Given the description of an element on the screen output the (x, y) to click on. 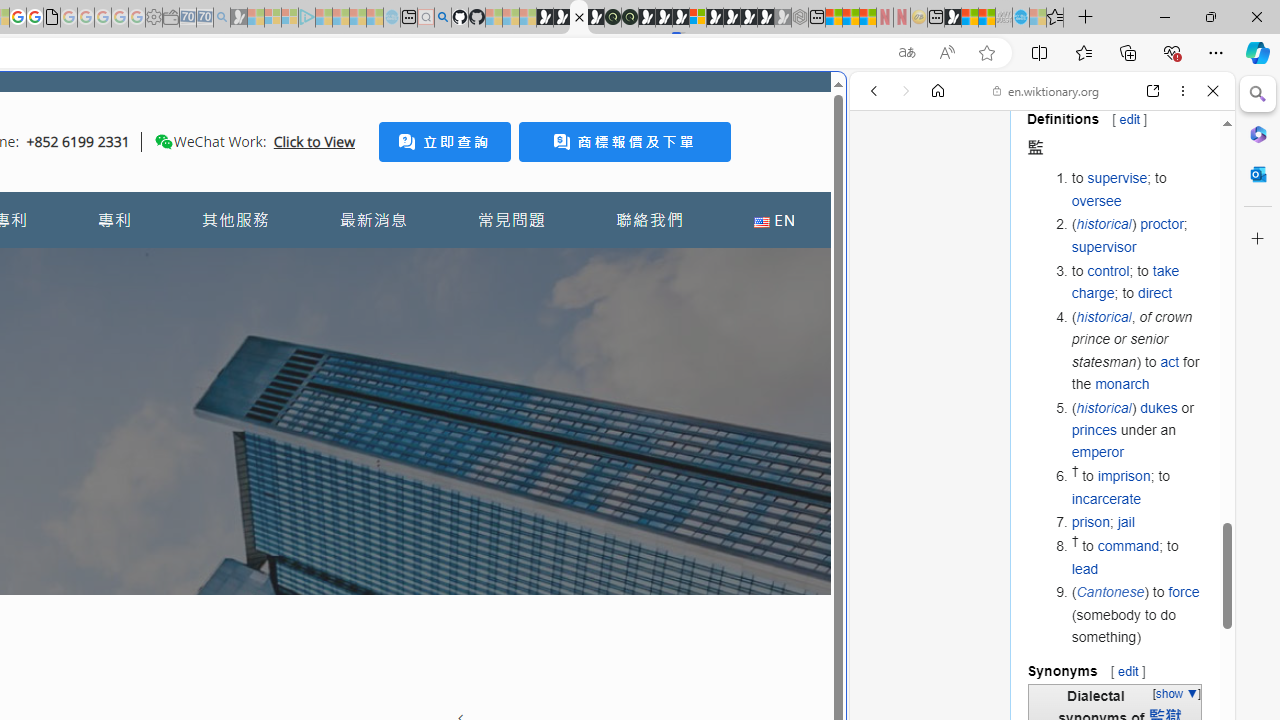
github - Search (442, 17)
google_privacy_policy_zh-CN.pdf (51, 17)
EN (774, 220)
Microsoft Start - Sleeping (357, 17)
WEB   (882, 228)
Close Customize pane (1258, 239)
direct (1154, 291)
Tabs you've opened (276, 265)
Home (938, 91)
